Given the description of an element on the screen output the (x, y) to click on. 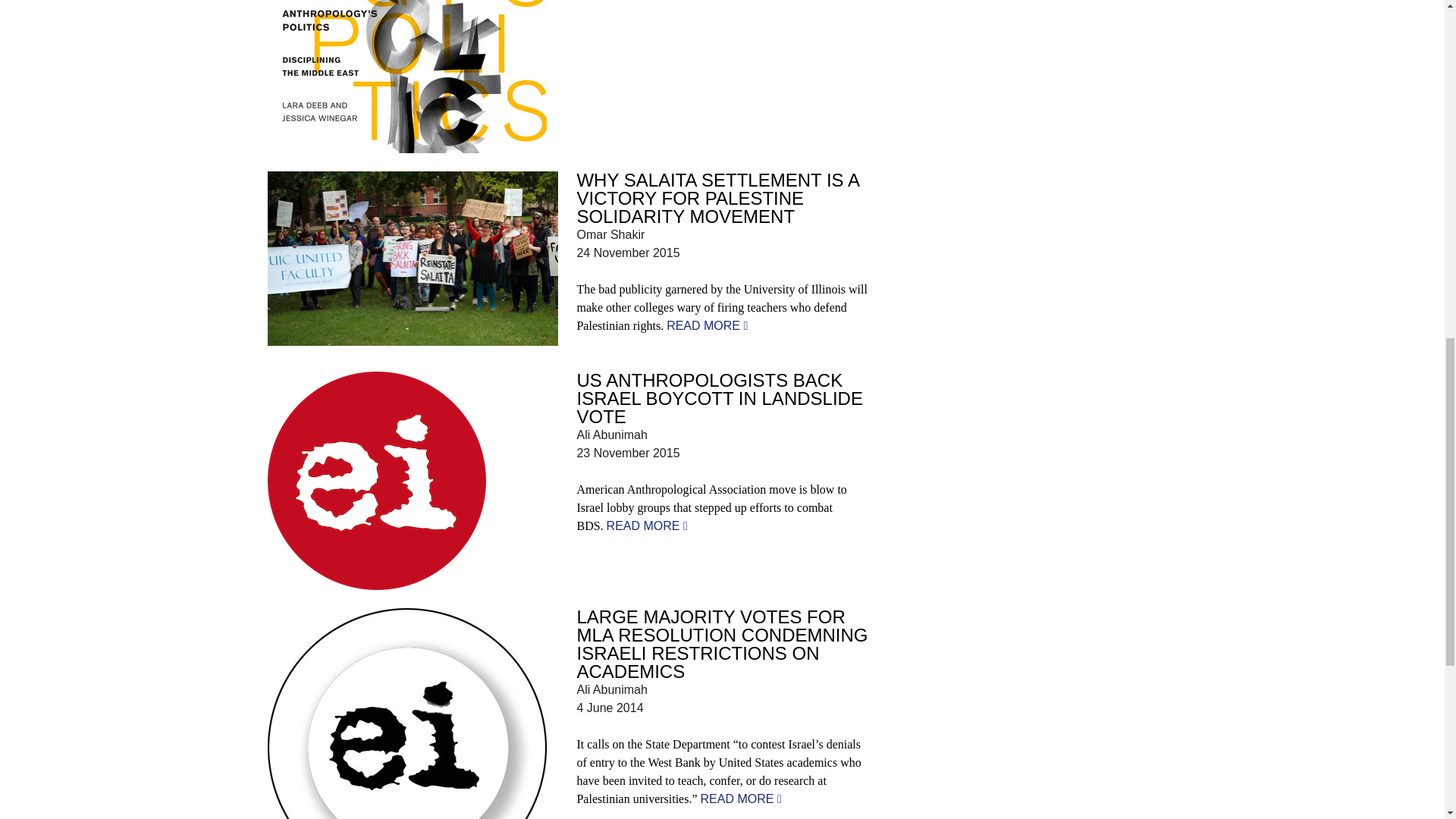
US ANTHROPOLOGISTS BACK ISRAEL BOYCOTT IN LANDSLIDE VOTE (718, 398)
US anthropologists back Israel boycott in landslide vote (647, 525)
